Given the description of an element on the screen output the (x, y) to click on. 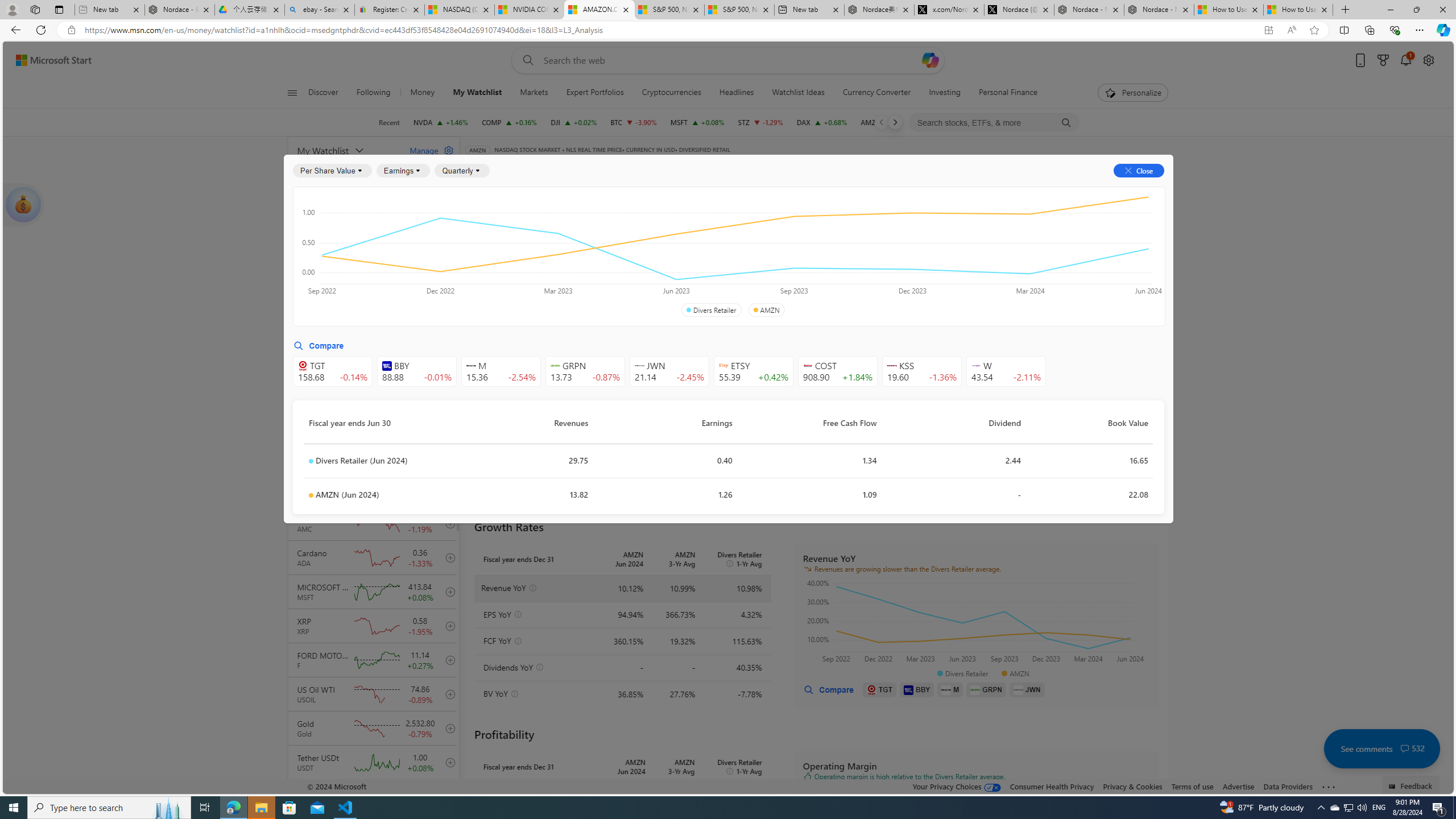
Collections (1369, 29)
Settings and more (Alt+F) (1419, 29)
Cryptocurrencies (670, 92)
Open settings (1427, 60)
New tab (809, 9)
AMZN AMAZON.COM, INC. decrease 173.12 -2.38 -1.36% (887, 122)
Options (1123, 188)
Terms of use (1192, 785)
Currency Converter (877, 92)
Close tab (1324, 9)
AMZN (766, 310)
Growth Rates (602, 253)
Refresh (40, 29)
Copilot (Ctrl+Shift+.) (1442, 29)
